Given the description of an element on the screen output the (x, y) to click on. 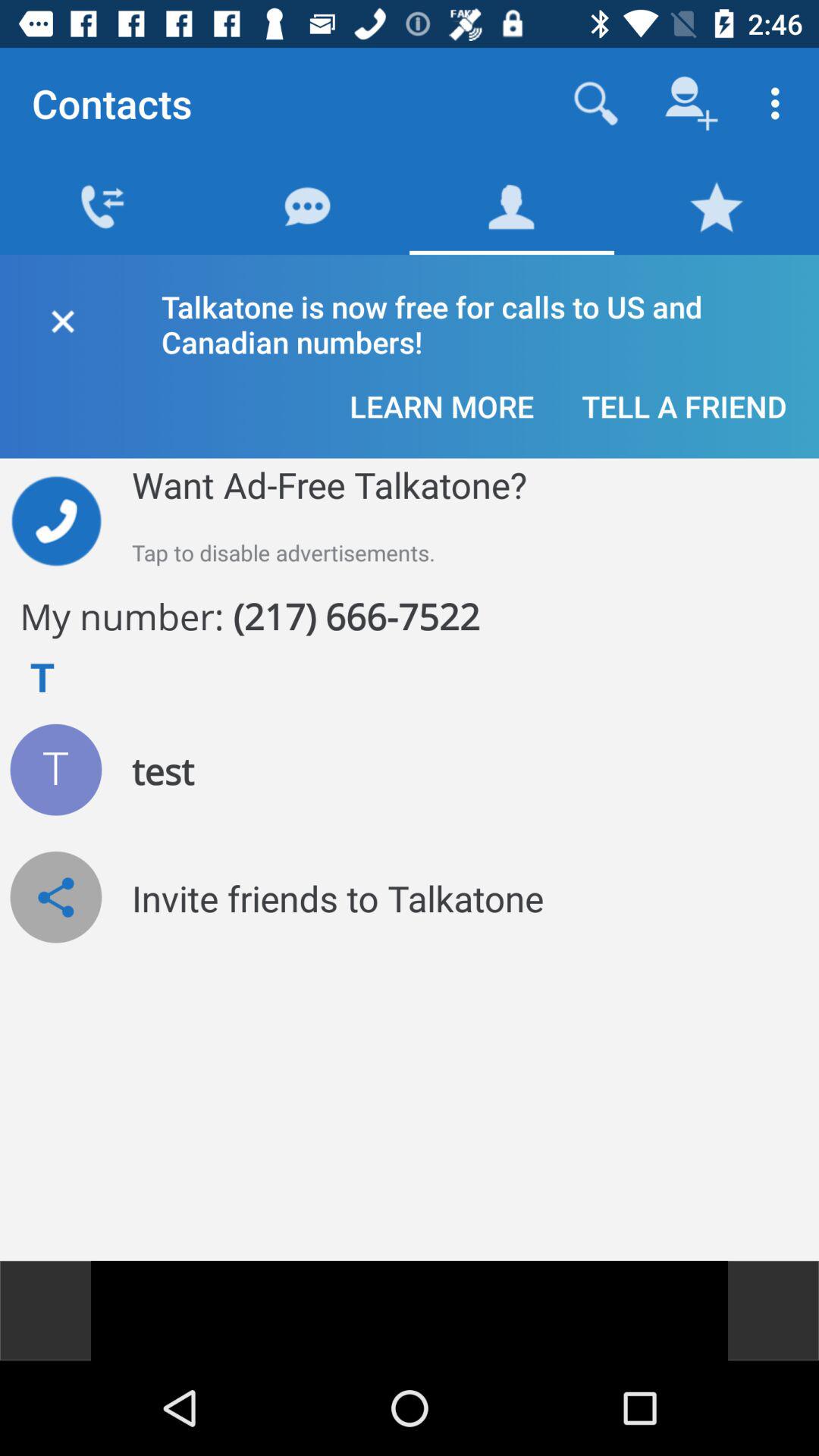
close (62, 318)
